Given the description of an element on the screen output the (x, y) to click on. 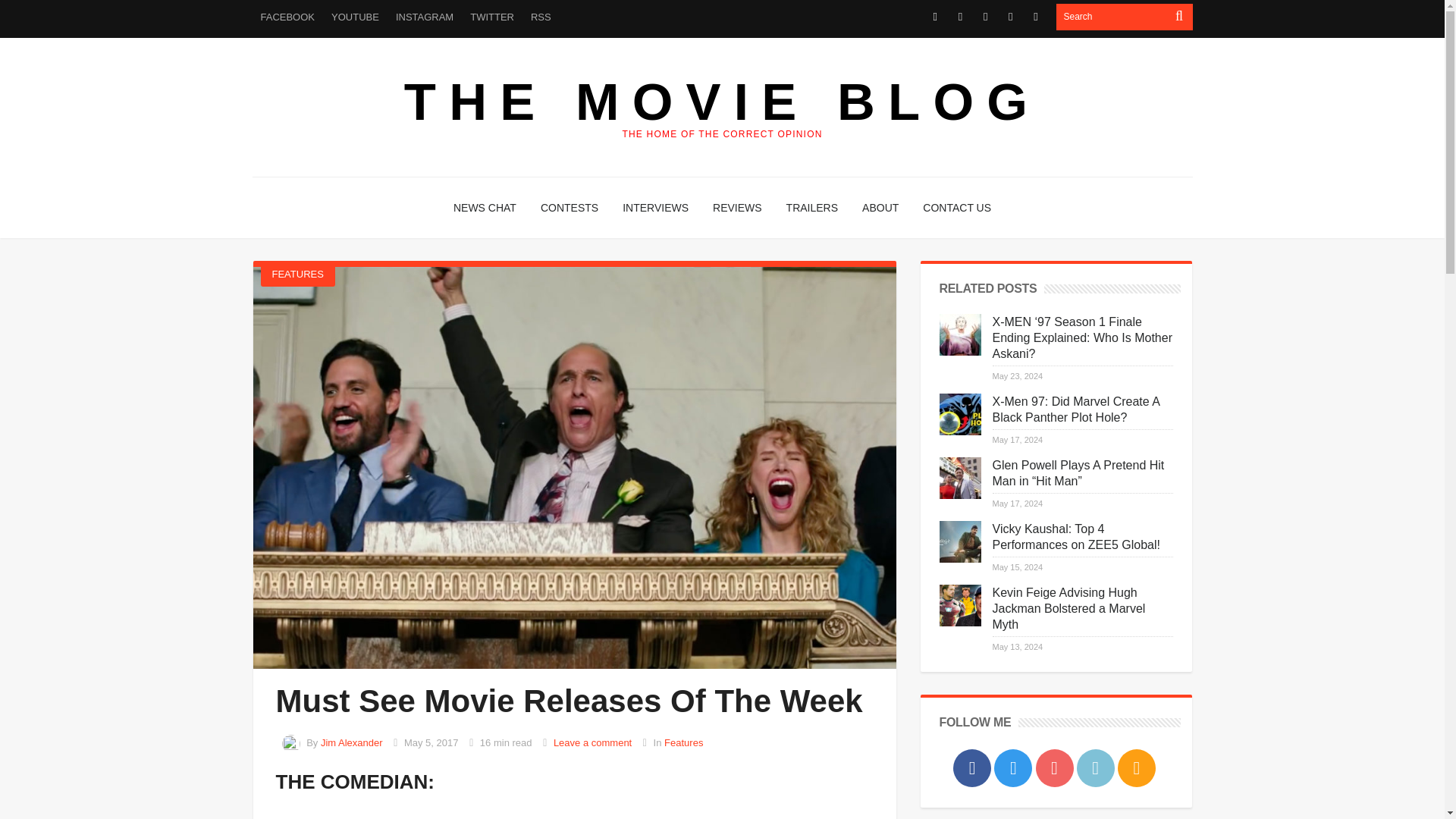
THE MOVIE BLOG (722, 101)
Search (1111, 17)
YOUTUBE (355, 17)
FACEBOOK (287, 17)
RSS (540, 17)
INSTAGRAM (424, 17)
Search (1111, 17)
NEWS CHAT (484, 207)
CONTESTS (568, 207)
TWITTER (491, 17)
